Given the description of an element on the screen output the (x, y) to click on. 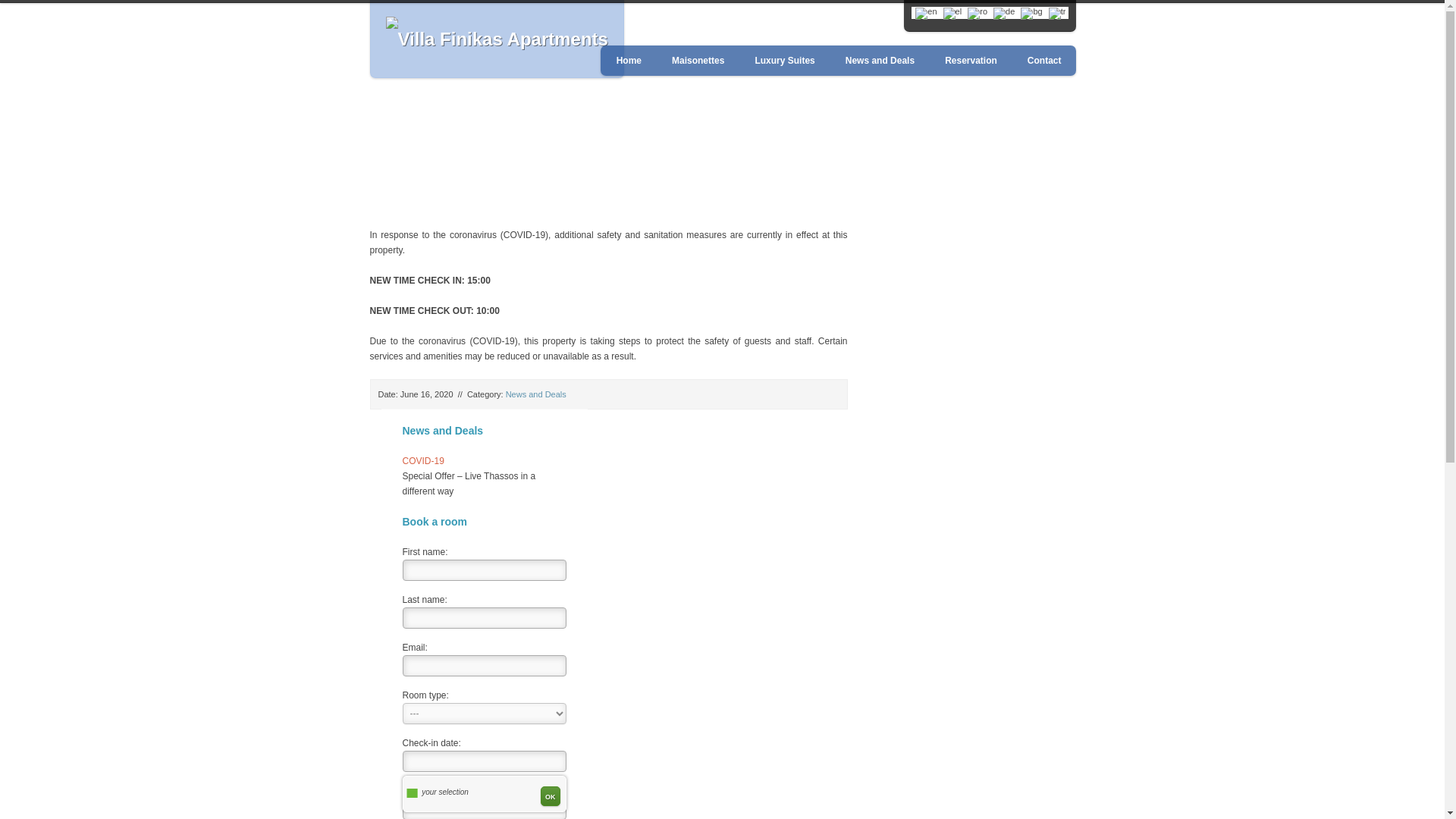
Maisonettes (697, 60)
Contact (1043, 60)
Reservation (969, 60)
News and Deals (878, 60)
Luxury Suites (783, 60)
English (925, 13)
